Given the description of an element on the screen output the (x, y) to click on. 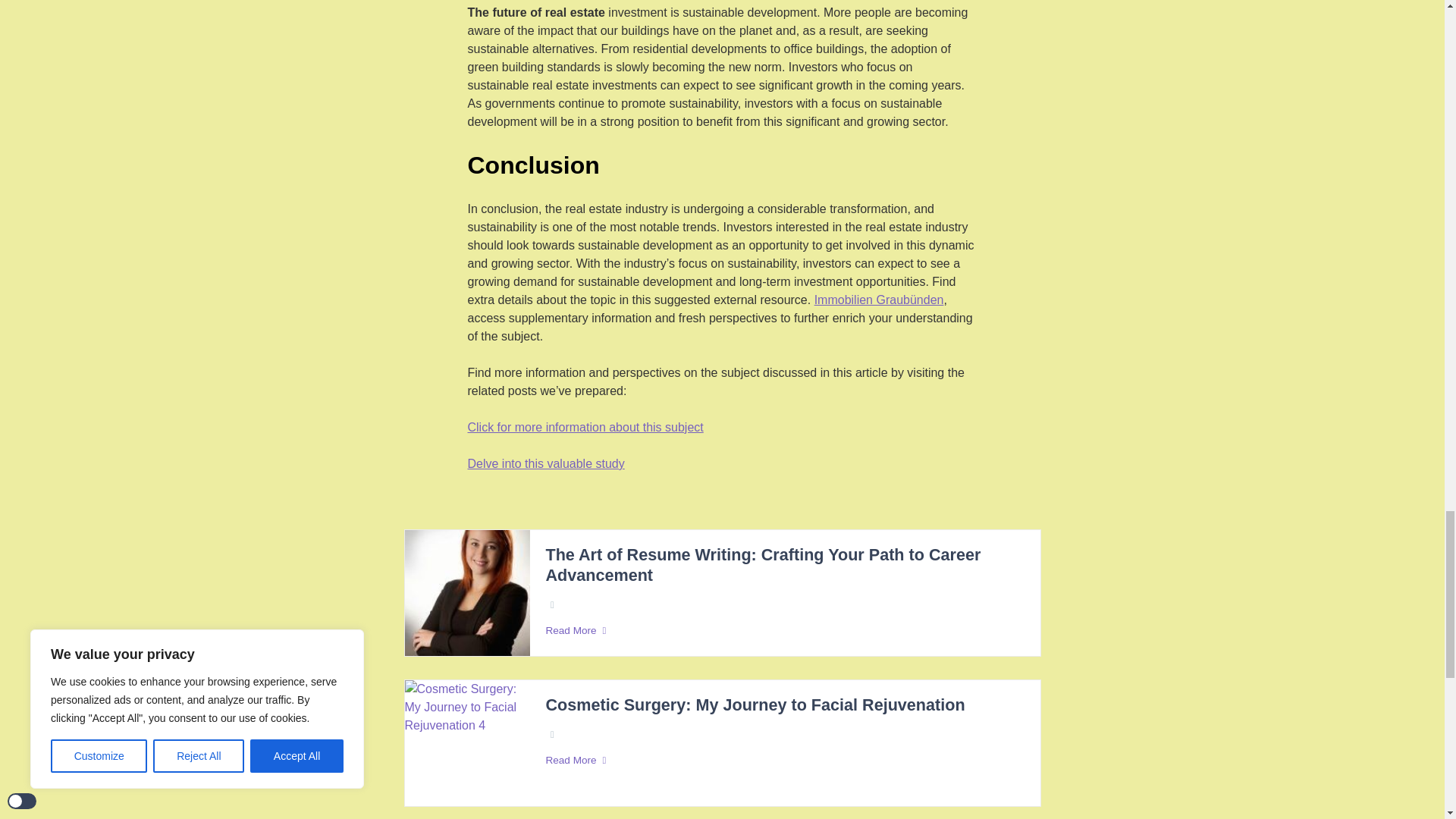
Read More (784, 760)
Cosmetic Surgery: My Journey to Facial Rejuvenation (753, 705)
Click for more information about this subject (585, 427)
Read More (784, 630)
Delve into this valuable study (545, 464)
